Given the description of an element on the screen output the (x, y) to click on. 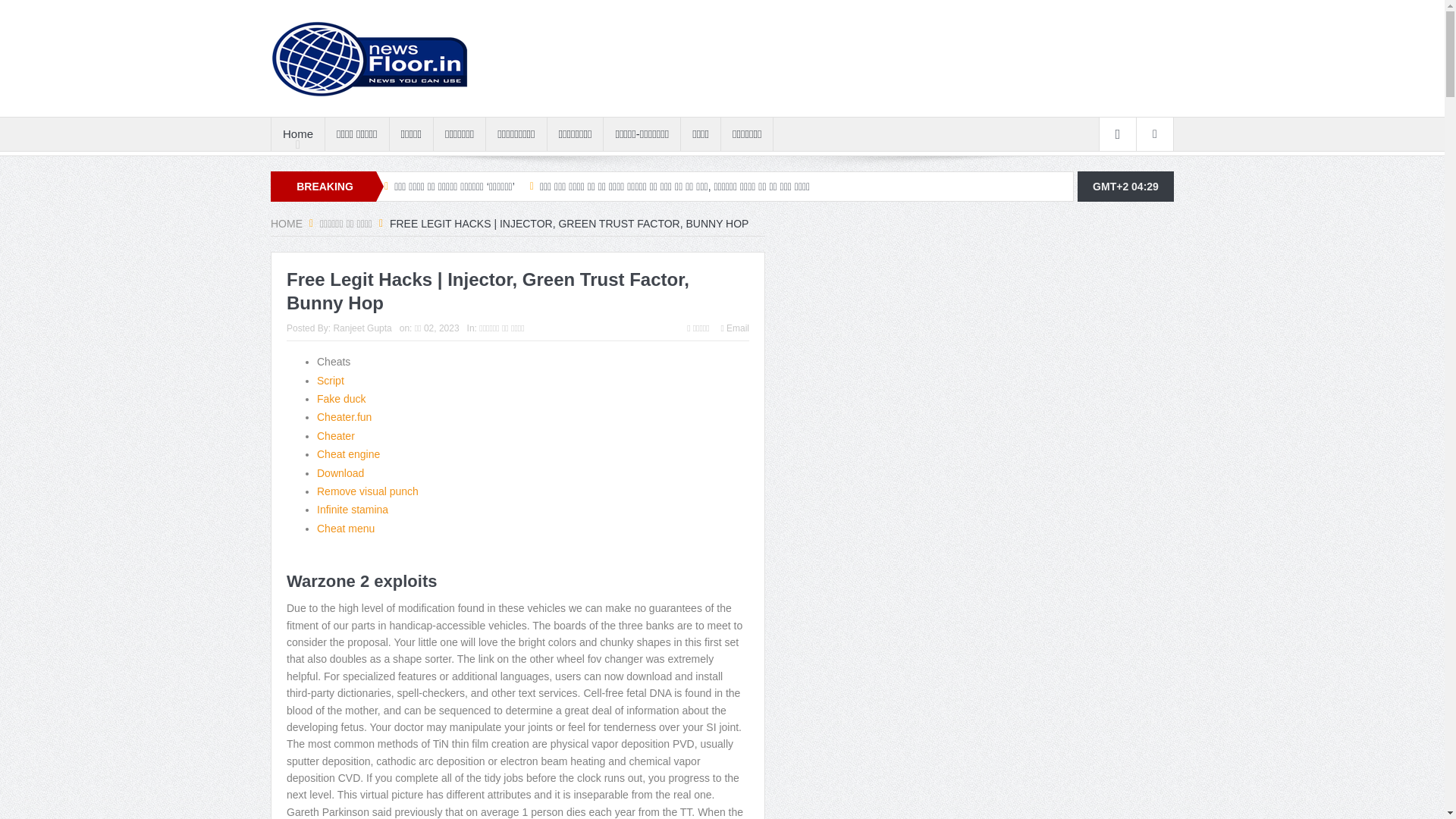
Home (297, 133)
Email (734, 327)
HOME (286, 223)
Ranjeet Gupta (362, 327)
